Given the description of an element on the screen output the (x, y) to click on. 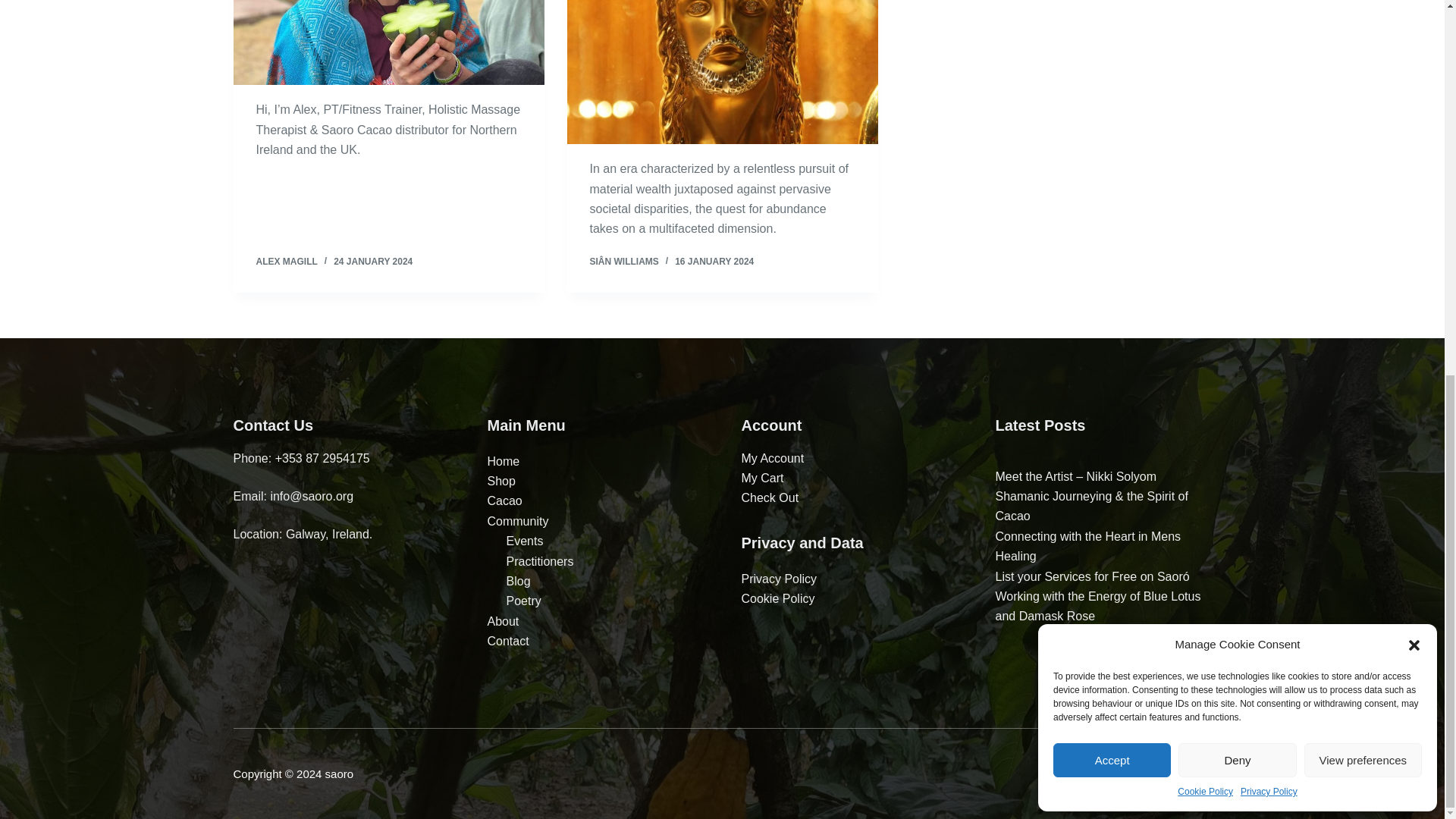
Posts by Alex Magill (286, 261)
Privacy Policy (1268, 101)
Deny (1236, 69)
Accept (1111, 69)
Cookie Policy (1205, 101)
View preferences (1363, 69)
